Given the description of an element on the screen output the (x, y) to click on. 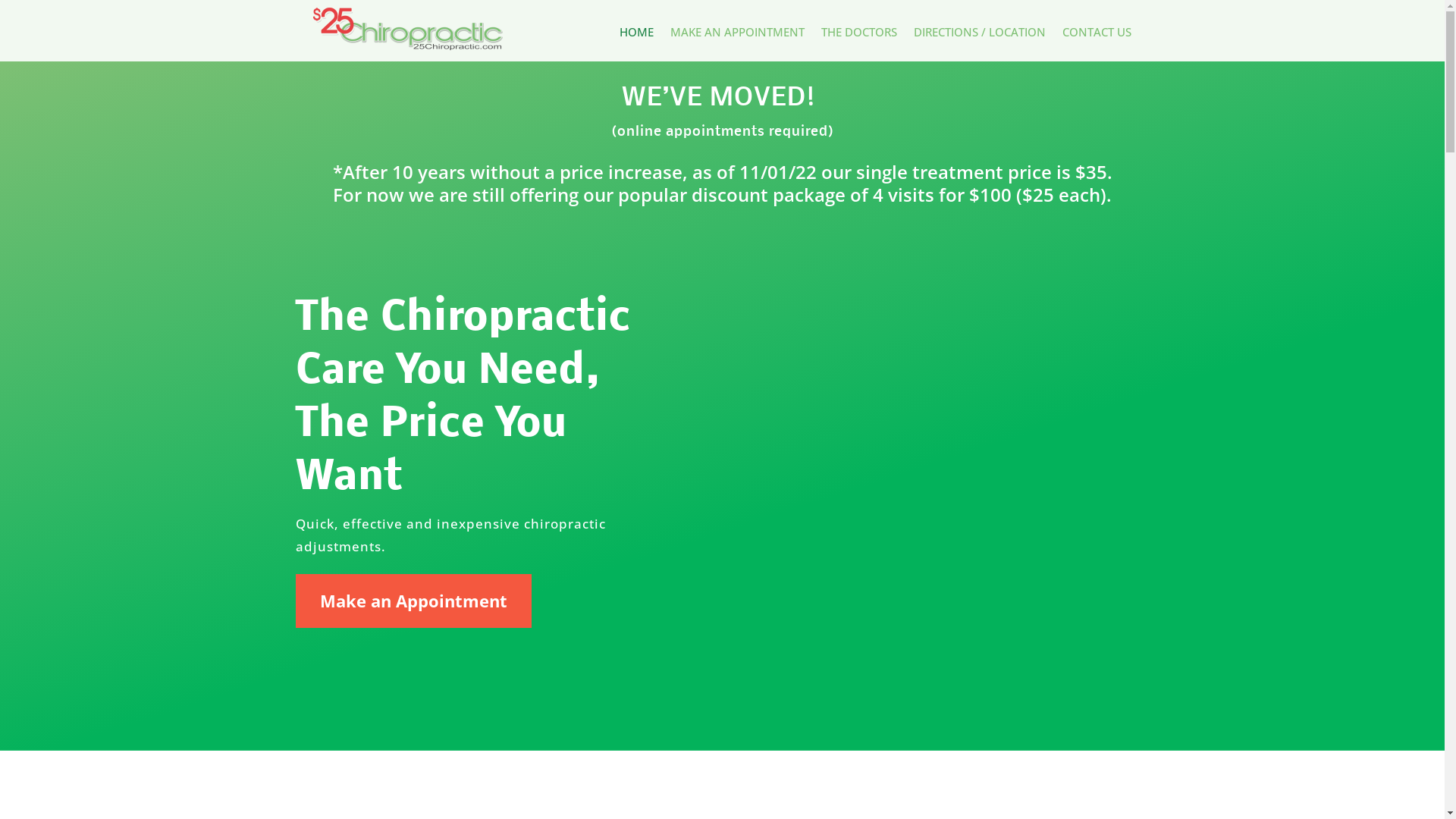
HOME Element type: text (636, 34)
MAKE AN APPOINTMENT Element type: text (737, 34)
CONTACT US Element type: text (1096, 34)
Make an Appointment Element type: text (413, 600)
THE DOCTORS Element type: text (859, 34)
DIRECTIONS / LOCATION Element type: text (979, 34)
